Given the description of an element on the screen output the (x, y) to click on. 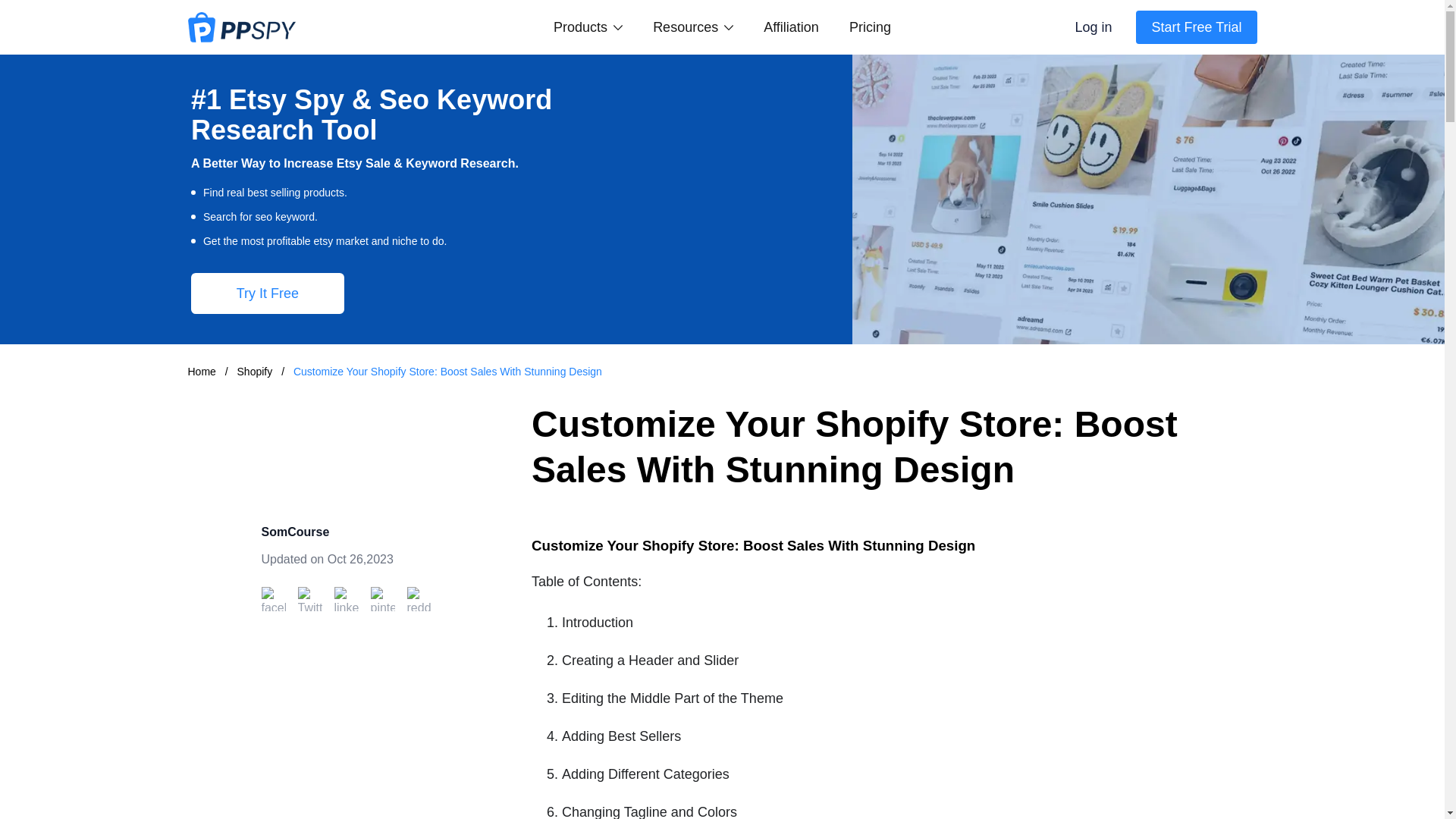
SomCourse (294, 531)
facebook (272, 598)
Home (201, 371)
Try It Free (266, 292)
Log in (1093, 27)
pinterest (381, 598)
Start Free Trial (1195, 27)
Twitter (309, 598)
Pricing (869, 27)
linkedin (345, 598)
Affiliation (790, 27)
Shopify (256, 371)
reddit (418, 598)
